Given the description of an element on the screen output the (x, y) to click on. 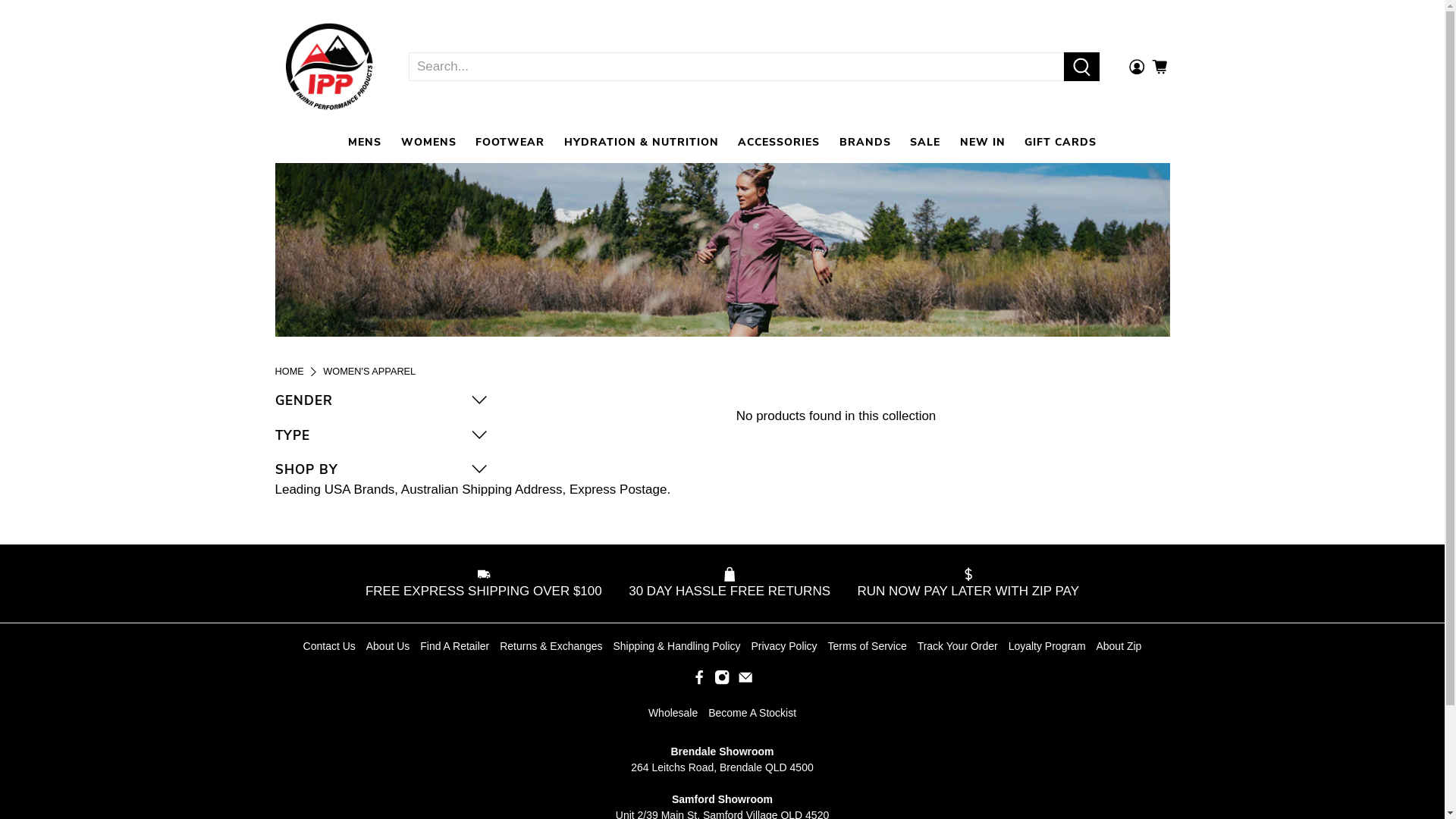
30 DAY HASSLE FREE RETURNS Element type: text (729, 583)
264 Leitchs Road, Brendale QLD 4500 Element type: text (721, 767)
About Us Element type: text (388, 646)
Injinji Performance Shop Element type: hover (329, 67)
RUN NOW PAY LATER WITH ZIP PAY Element type: text (963, 583)
Shipping & Handling Policy Element type: text (676, 646)
HOME Element type: text (288, 371)
Returns & Exchanges Element type: text (550, 646)
Injinji Performance Shop on Facebook Element type: hover (698, 681)
WOMENS Element type: text (428, 142)
NEW IN Element type: text (982, 142)
MENS Element type: text (364, 142)
Injinji Performance Shop on Instagram Element type: hover (721, 681)
FREE EXPRESS SHIPPING OVER $100 Element type: text (488, 583)
Terms of Service Element type: text (867, 646)
BRANDS Element type: text (864, 142)
Contact Us Element type: text (329, 646)
HYDRATION & NUTRITION Element type: text (641, 142)
WOMEN'S APPAREL Element type: text (369, 371)
Loyalty Program Element type: text (1046, 646)
Track Your Order Element type: text (957, 646)
Email Injinji Performance Shop Element type: hover (745, 681)
Privacy Policy Element type: text (783, 646)
Become A Stockist Element type: text (752, 712)
ACCESSORIES Element type: text (778, 142)
GIFT CARDS Element type: text (1060, 142)
FOOTWEAR Element type: text (509, 142)
Find A Retailer Element type: text (454, 646)
Wholesale Element type: text (672, 712)
SALE Element type: text (925, 142)
About Zip Element type: text (1118, 646)
